Given the description of an element on the screen output the (x, y) to click on. 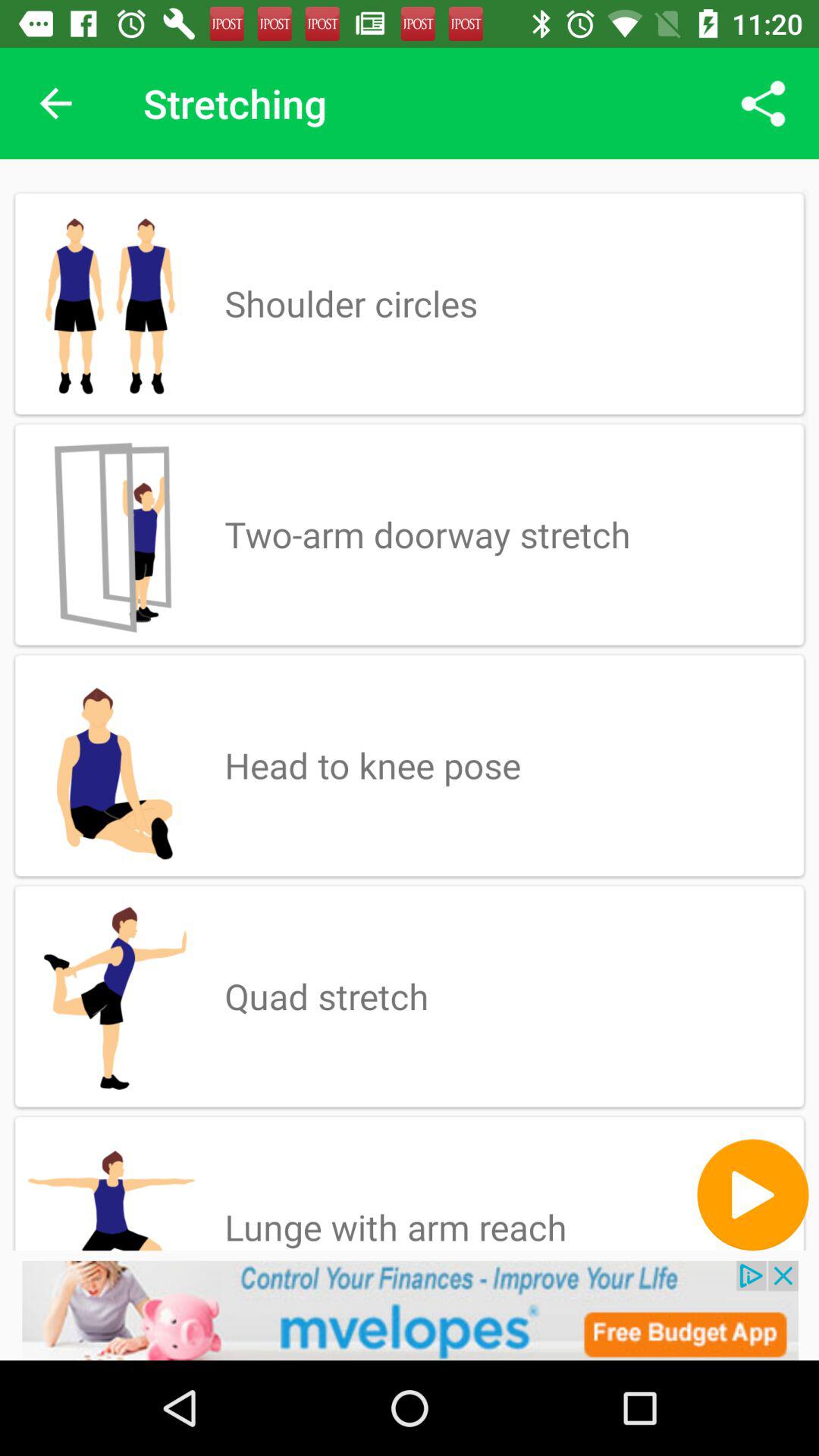
play button (752, 1194)
